Given the description of an element on the screen output the (x, y) to click on. 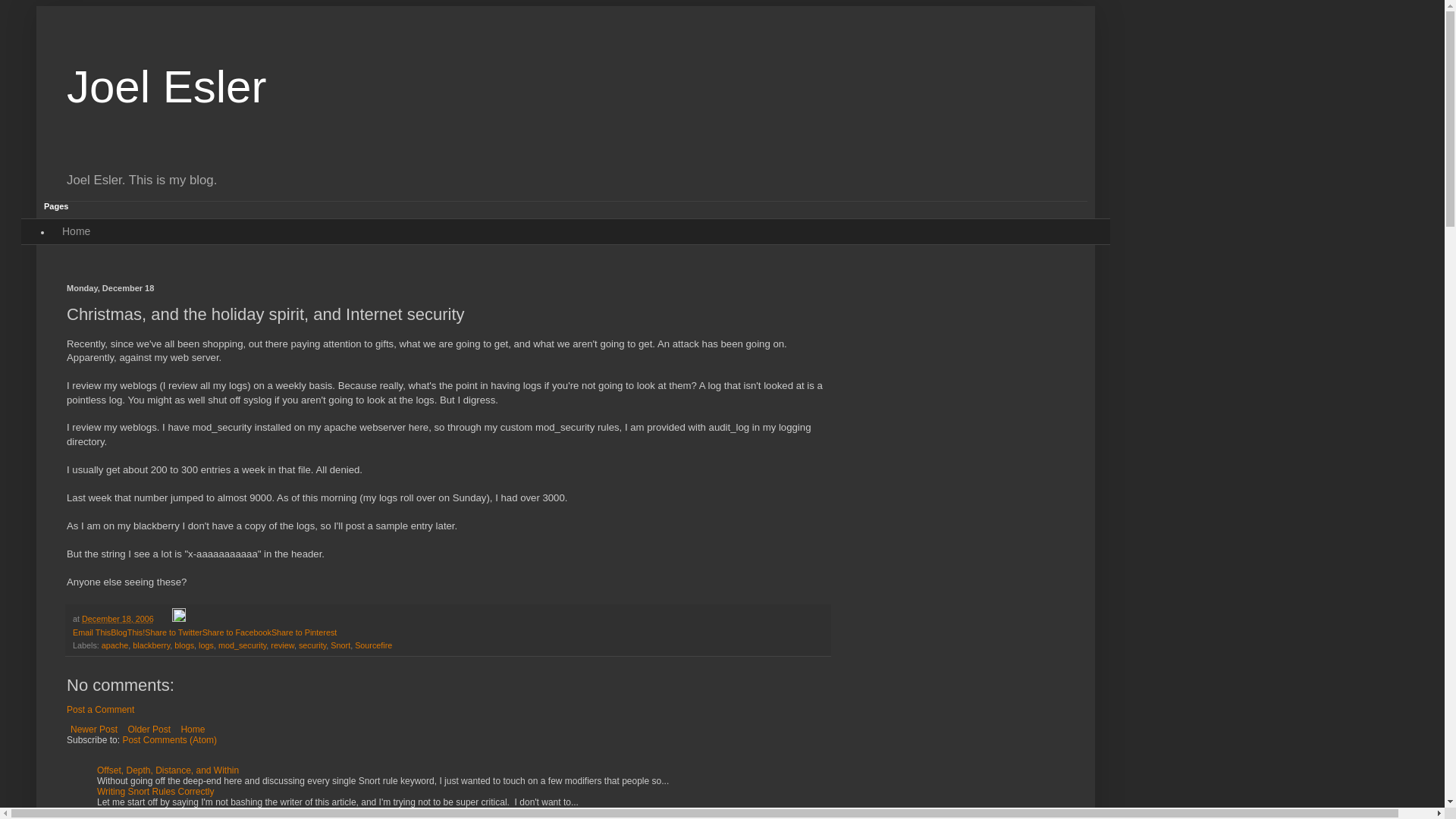
December 18, 2006 (117, 618)
Share to Pinterest (303, 632)
Edit Post (178, 618)
Offset, Depth, Distance, and Within (167, 769)
BlogThis! (127, 632)
blackberry (151, 645)
Share to Facebook (236, 632)
review (282, 645)
Email This (91, 632)
Sourcefire (373, 645)
logs (206, 645)
Newer Post (93, 729)
Moving from Omnifocus to Reminders (172, 812)
Older Post (148, 729)
Writing Snort Rules Correctly (155, 791)
